Given the description of an element on the screen output the (x, y) to click on. 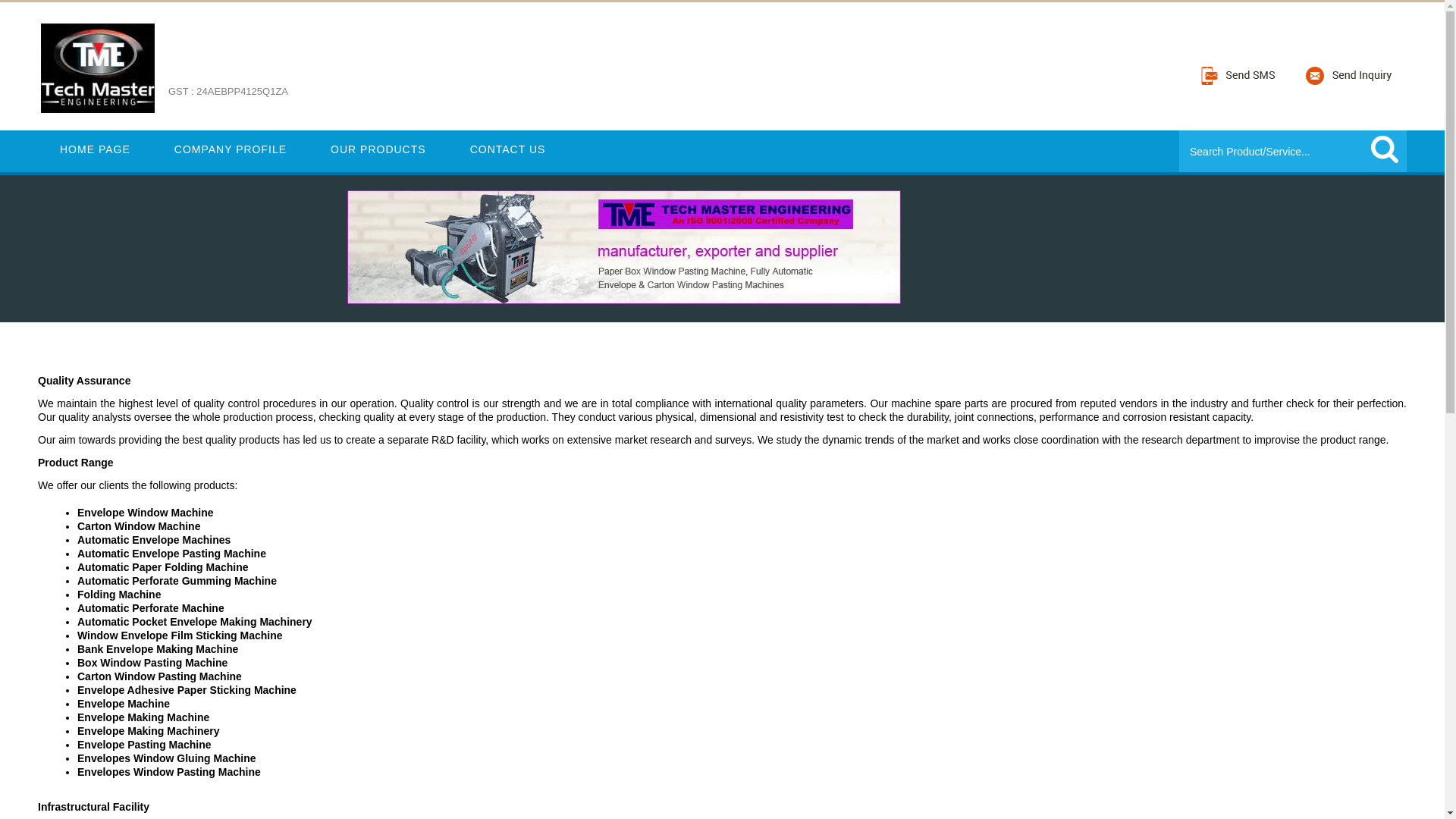
HOME PAGE (94, 149)
OUR PRODUCTS (378, 149)
submit (1384, 149)
CONTACT US (507, 149)
submit (1384, 149)
COMPANY PROFILE (230, 149)
GST : 24AEBPP4125Q1ZA (228, 99)
